Given the description of an element on the screen output the (x, y) to click on. 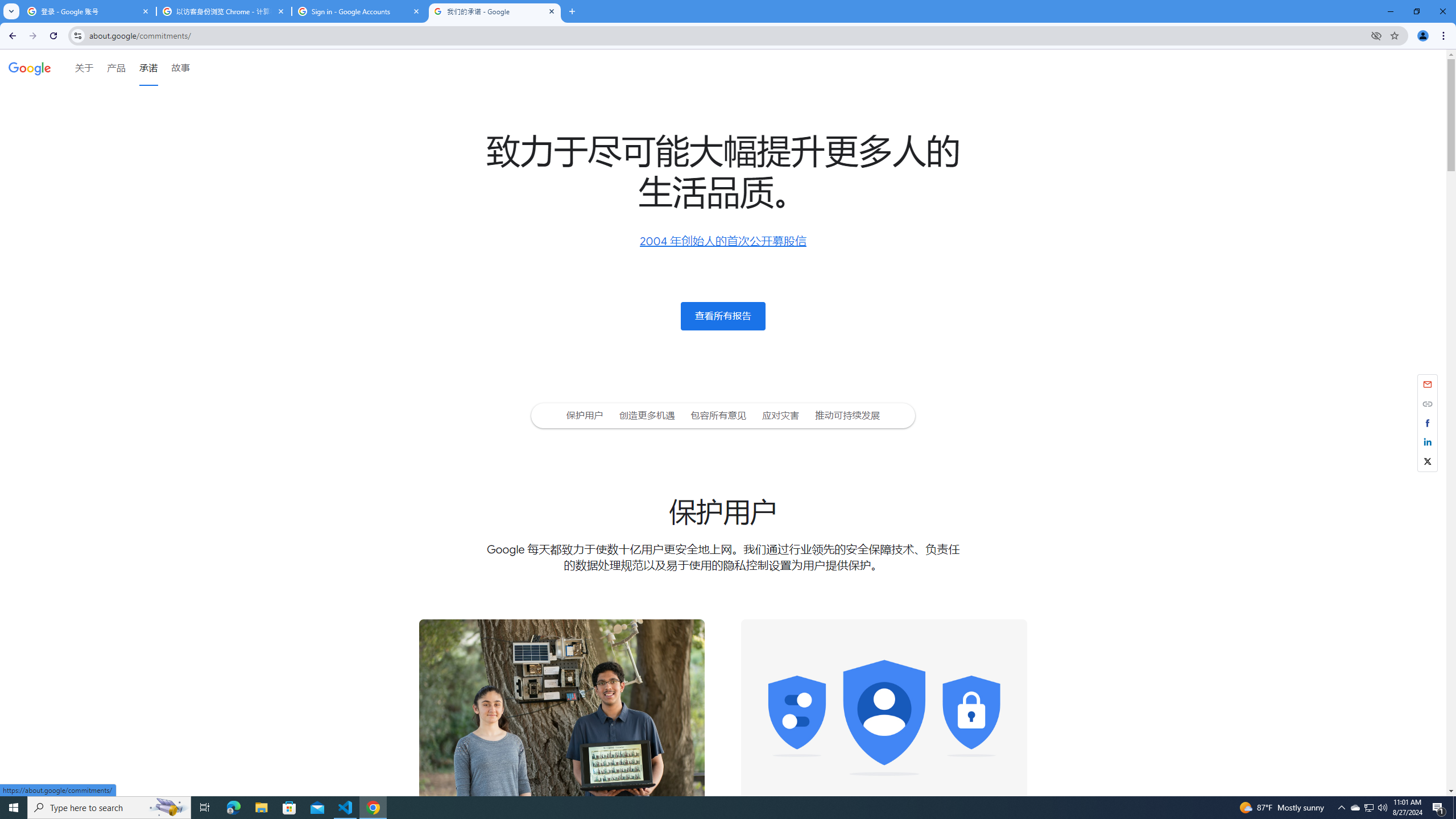
Sign in - Google Accounts (359, 11)
